Given the description of an element on the screen output the (x, y) to click on. 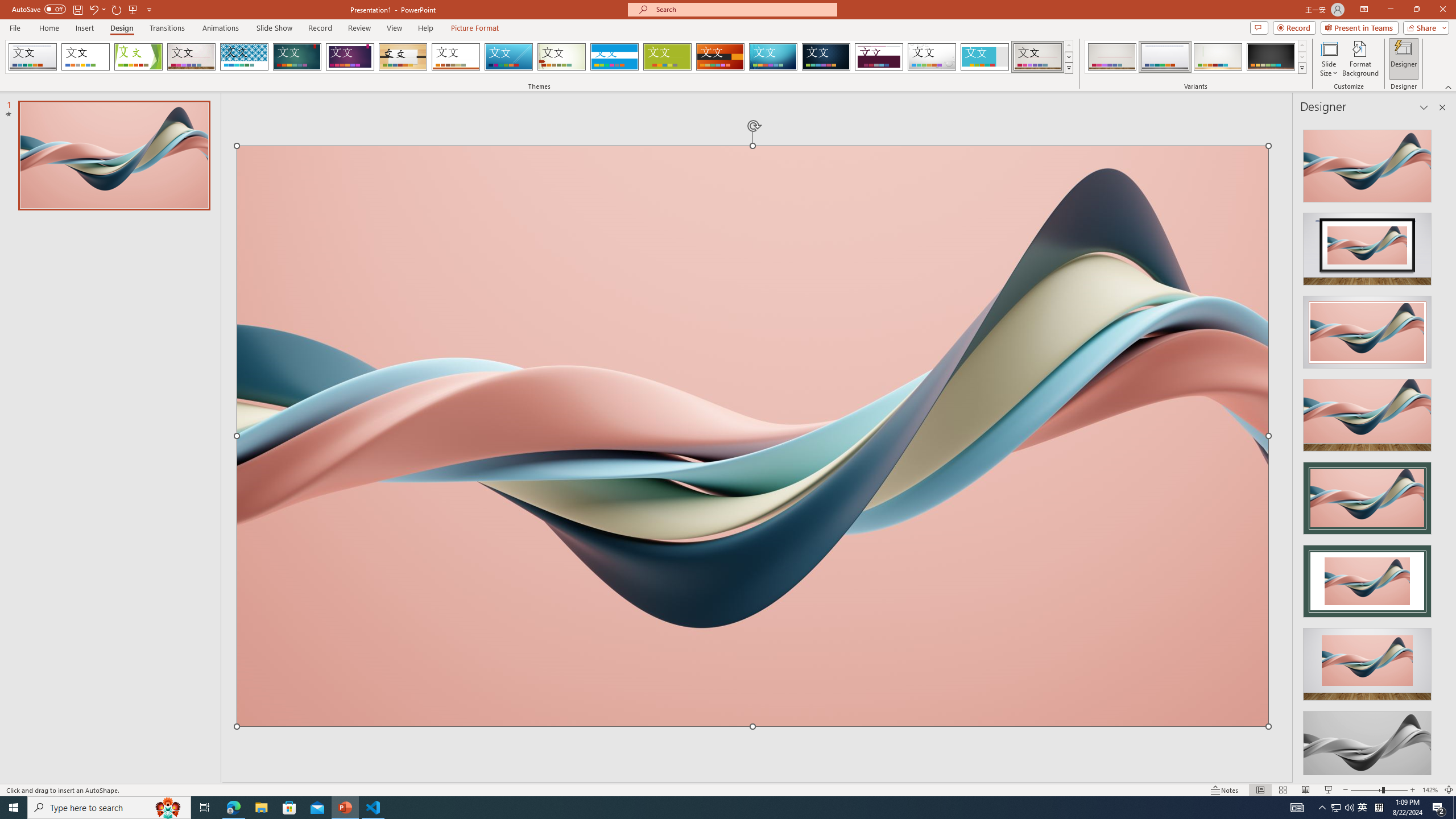
Droplet (931, 56)
Wavy 3D art (752, 435)
Circuit (772, 56)
Gallery Variant 3 (1217, 56)
